Given the description of an element on the screen output the (x, y) to click on. 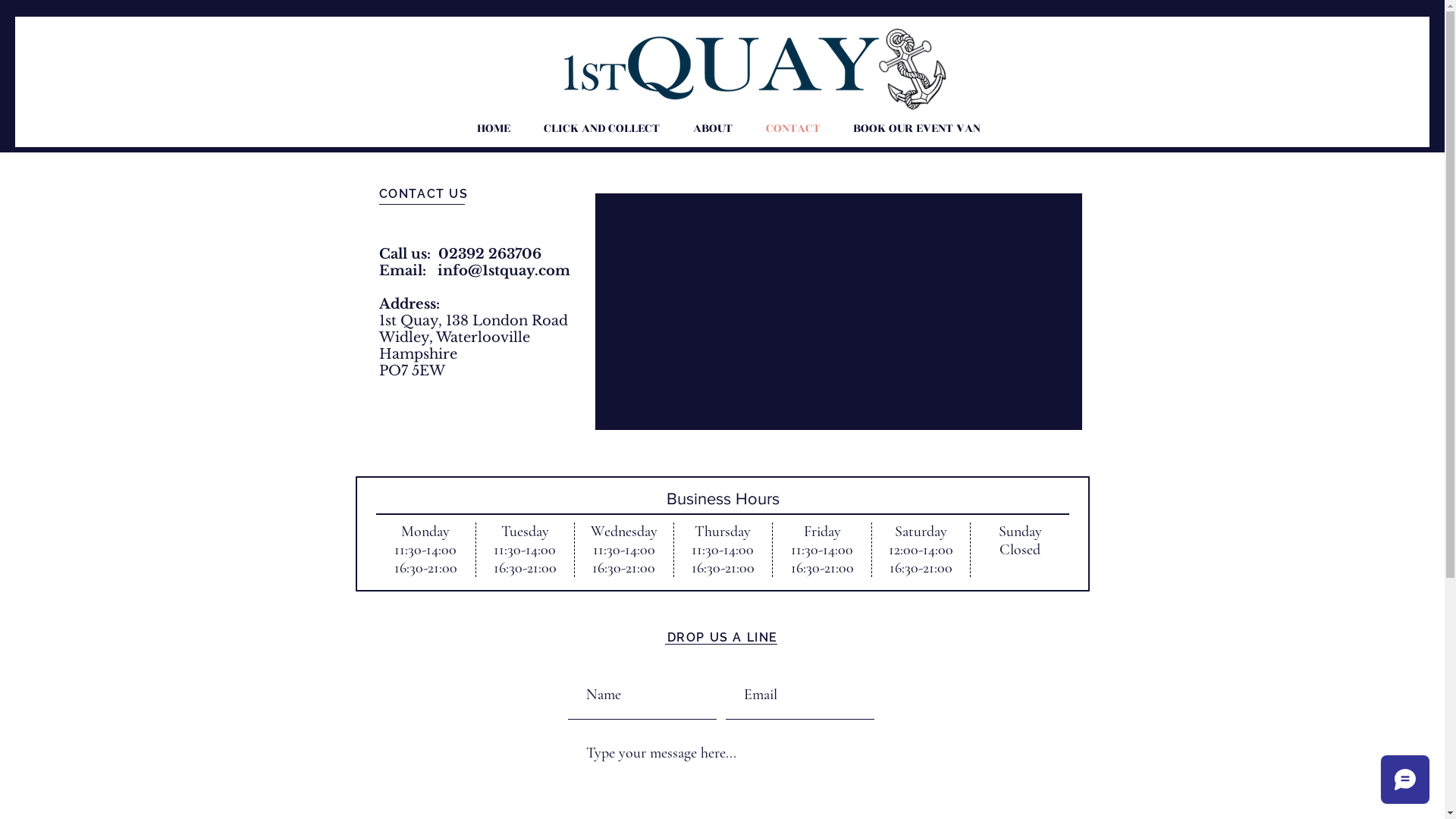
Google Maps Element type: hover (838, 311)
Open for Business Element type: hover (721, 533)
y, Waterlooville  Element type: text (476, 337)
Call us:  02392 263706 Element type: text (460, 253)
HOME Element type: text (492, 128)
CONTACT Element type: text (793, 128)
Widle Element type: text (399, 337)
Log In Element type: text (1039, 57)
CLICK AND COLLECT Element type: text (600, 128)
PO7 5EW Element type: text (412, 370)
1st Quay, 138 London Road Element type: text (473, 320)
ABOUT Element type: text (712, 128)
Hampshire Element type: text (418, 353)
BOOK OUR EVENT VAN Element type: text (917, 128)
Email:   info@1stquay.com Element type: text (474, 270)
